Given the description of an element on the screen output the (x, y) to click on. 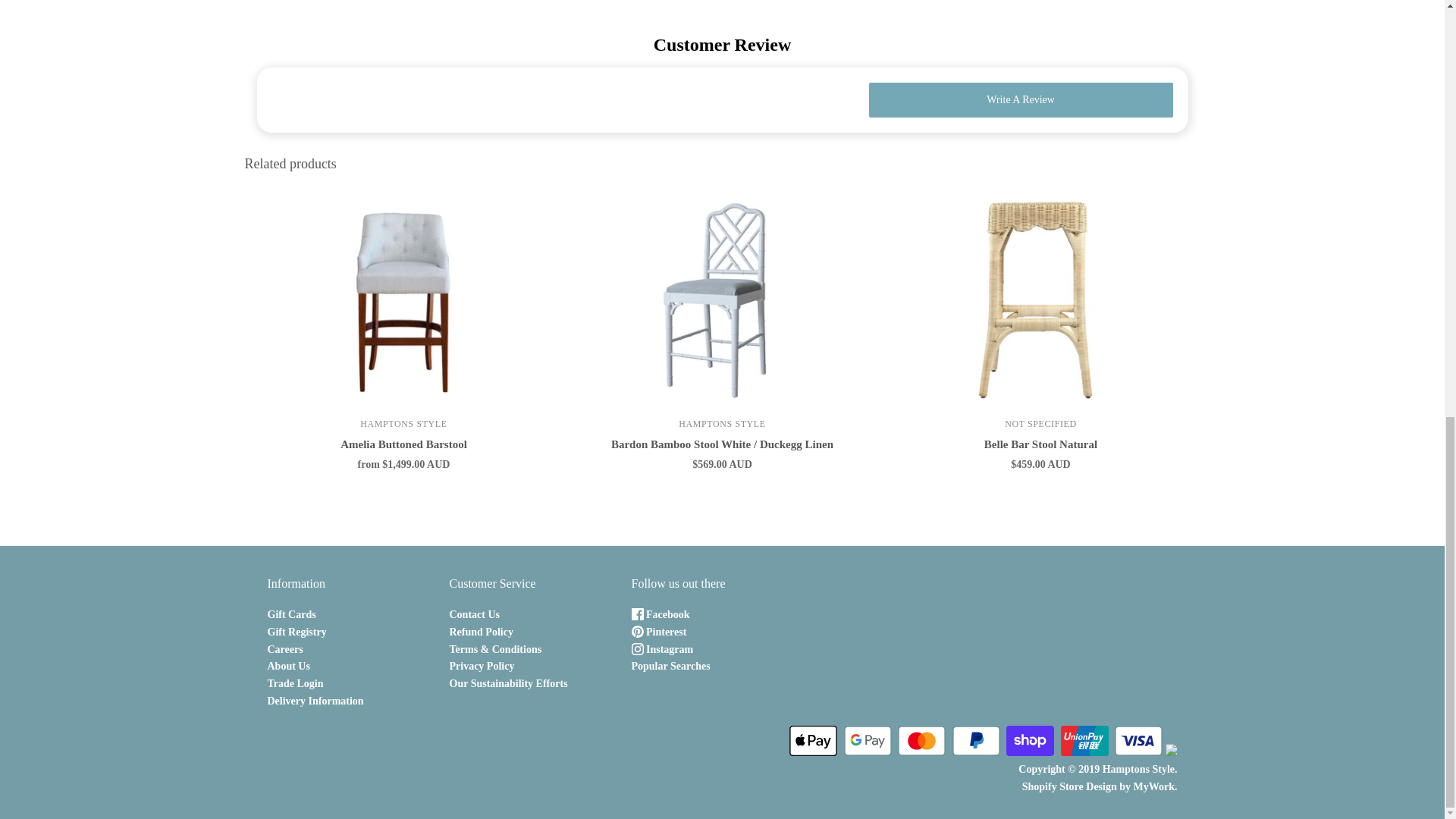
Google Pay (867, 740)
PayPal (976, 740)
Facebook (659, 614)
Union Pay (1083, 740)
Visa (1138, 740)
Pinterest (657, 632)
Instagram (661, 649)
Hamptons Style (402, 423)
Shop Pay (1030, 740)
Not specified (1039, 423)
Hamptons Style (721, 423)
Mastercard (921, 740)
Apple Pay (813, 740)
